Given the description of an element on the screen output the (x, y) to click on. 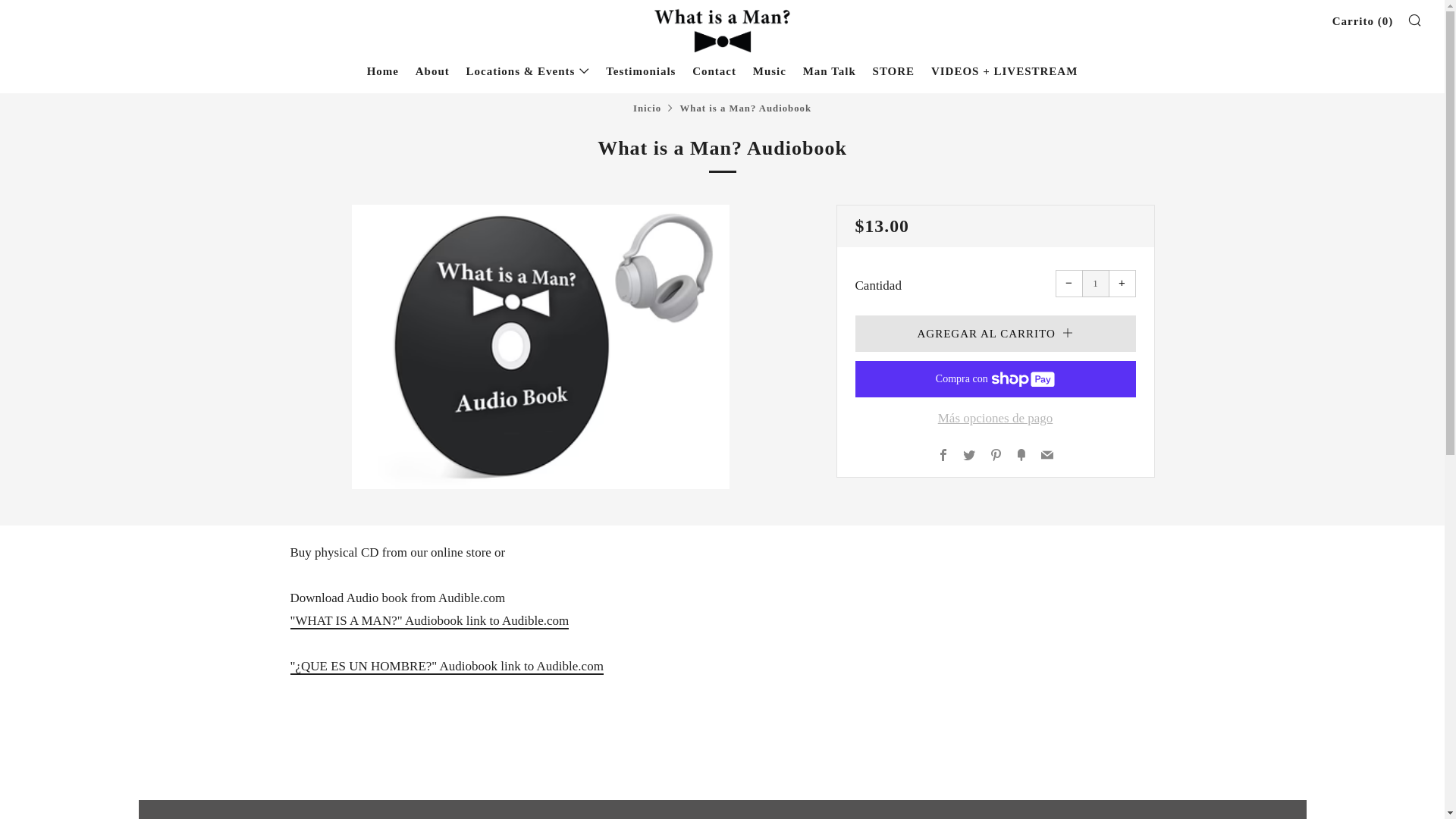
Inicio (647, 108)
Home (382, 70)
1 (1094, 283)
QUE ES UN HOMBRE Audible.com (445, 666)
About (431, 70)
WHAT IS A MAN AUDIBLE.COM (429, 621)
